Given the description of an element on the screen output the (x, y) to click on. 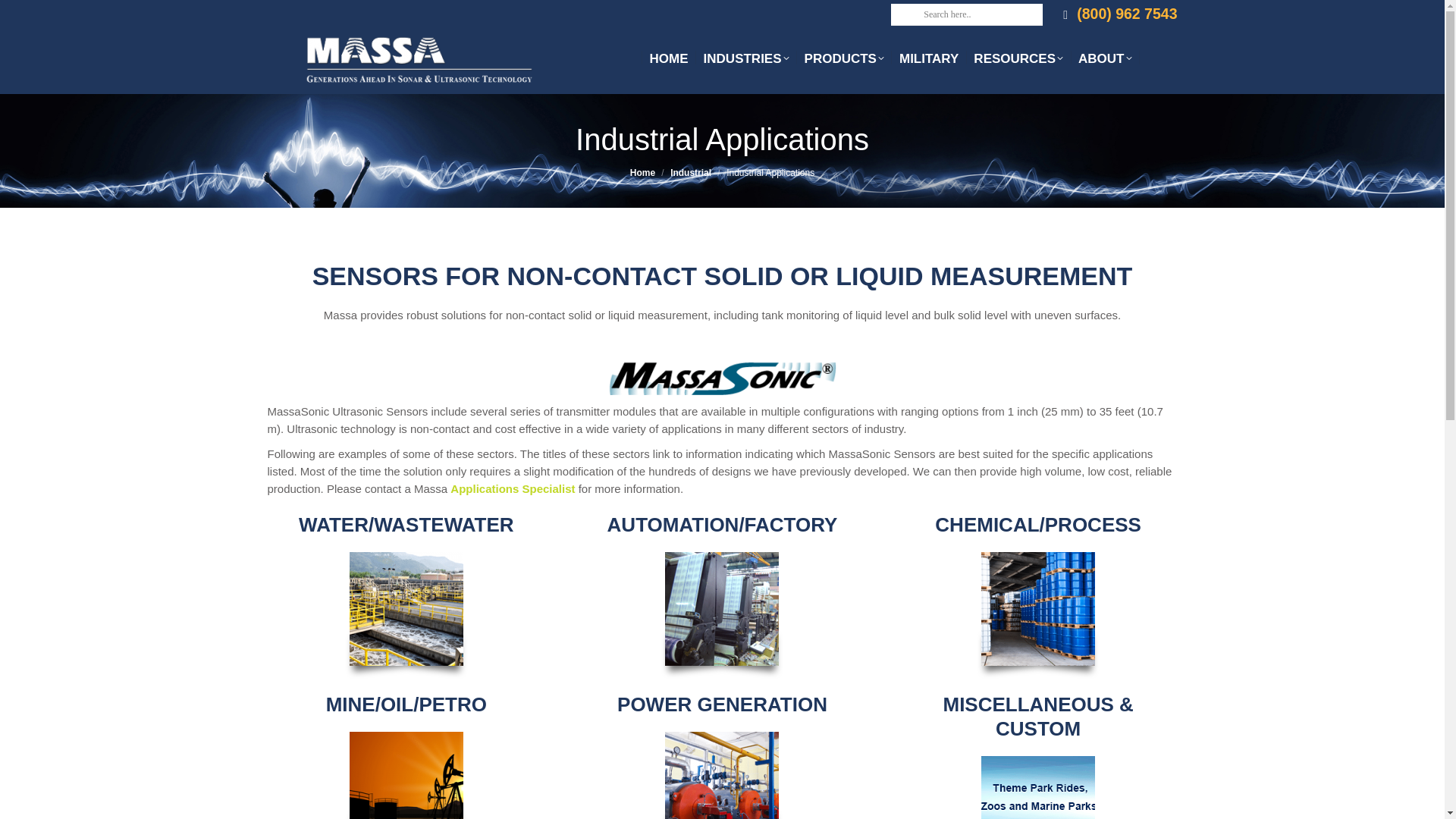
ABOUT (1104, 57)
HOME (668, 57)
RESOURCES (1018, 57)
MILITARY (928, 57)
Home (642, 172)
PRODUCTS (843, 57)
Misc-Apps (1037, 787)
Industrial (690, 172)
INDUSTRIES (745, 57)
